Given the description of an element on the screen output the (x, y) to click on. 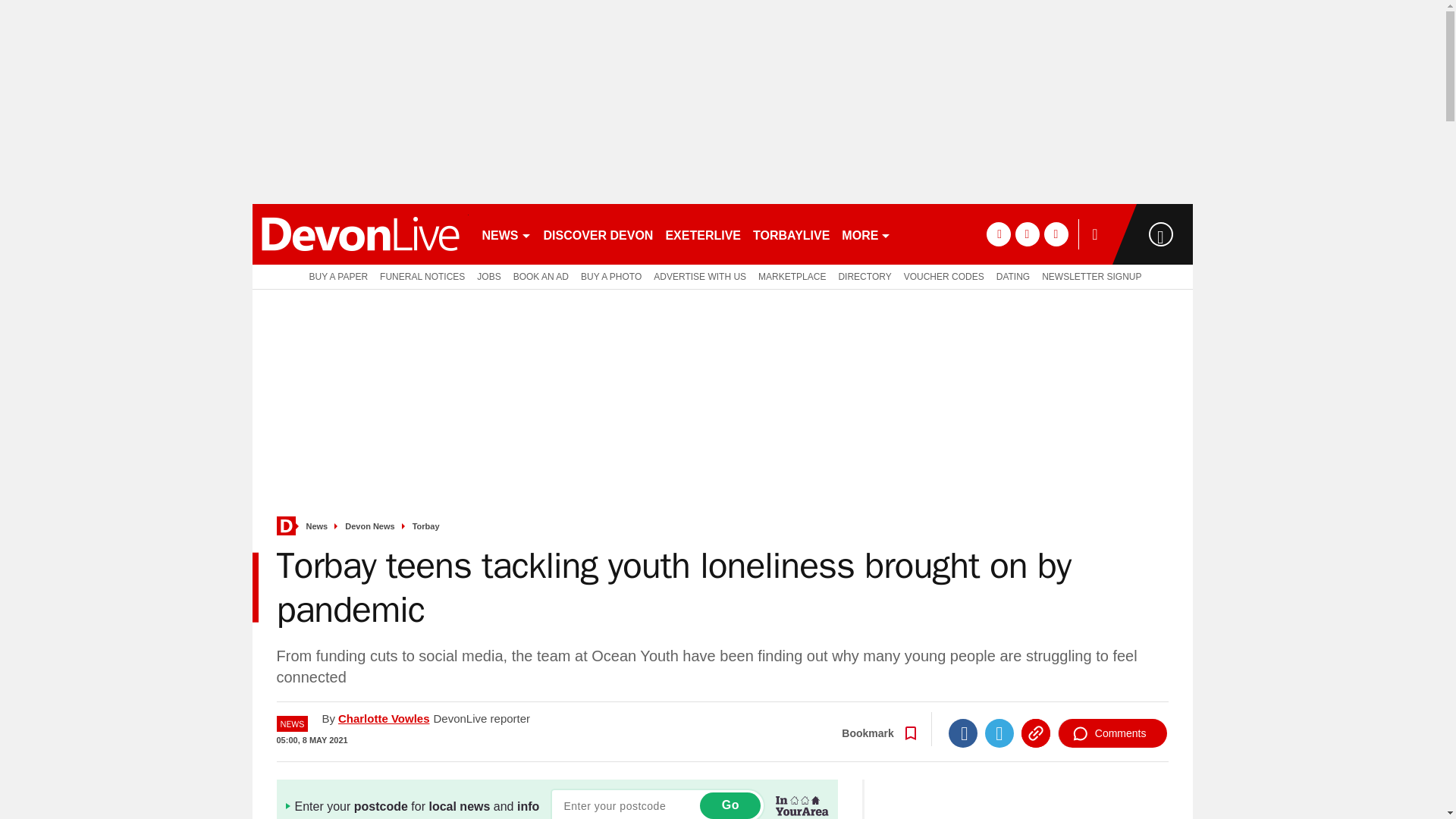
DISCOVER DEVON (598, 233)
EXETERLIVE (702, 233)
Twitter (999, 733)
Comments (1112, 733)
Go (730, 805)
NEWS (506, 233)
instagram (1055, 233)
devonlive (359, 233)
TORBAYLIVE (790, 233)
Facebook (962, 733)
